Given the description of an element on the screen output the (x, y) to click on. 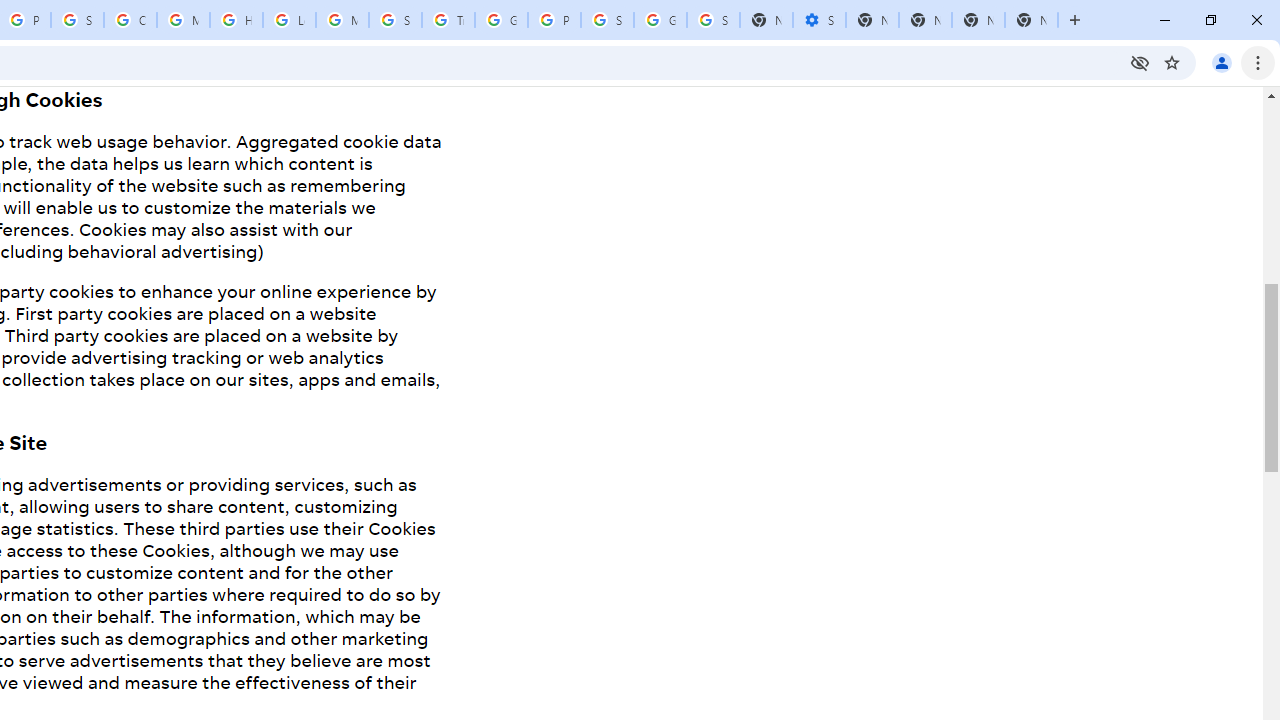
Sign in - Google Accounts (607, 20)
Trusted Information and Content - Google Safety Center (448, 20)
Google Ads - Sign in (501, 20)
New Tab (1031, 20)
Sign in - Google Accounts (713, 20)
